Given the description of an element on the screen output the (x, y) to click on. 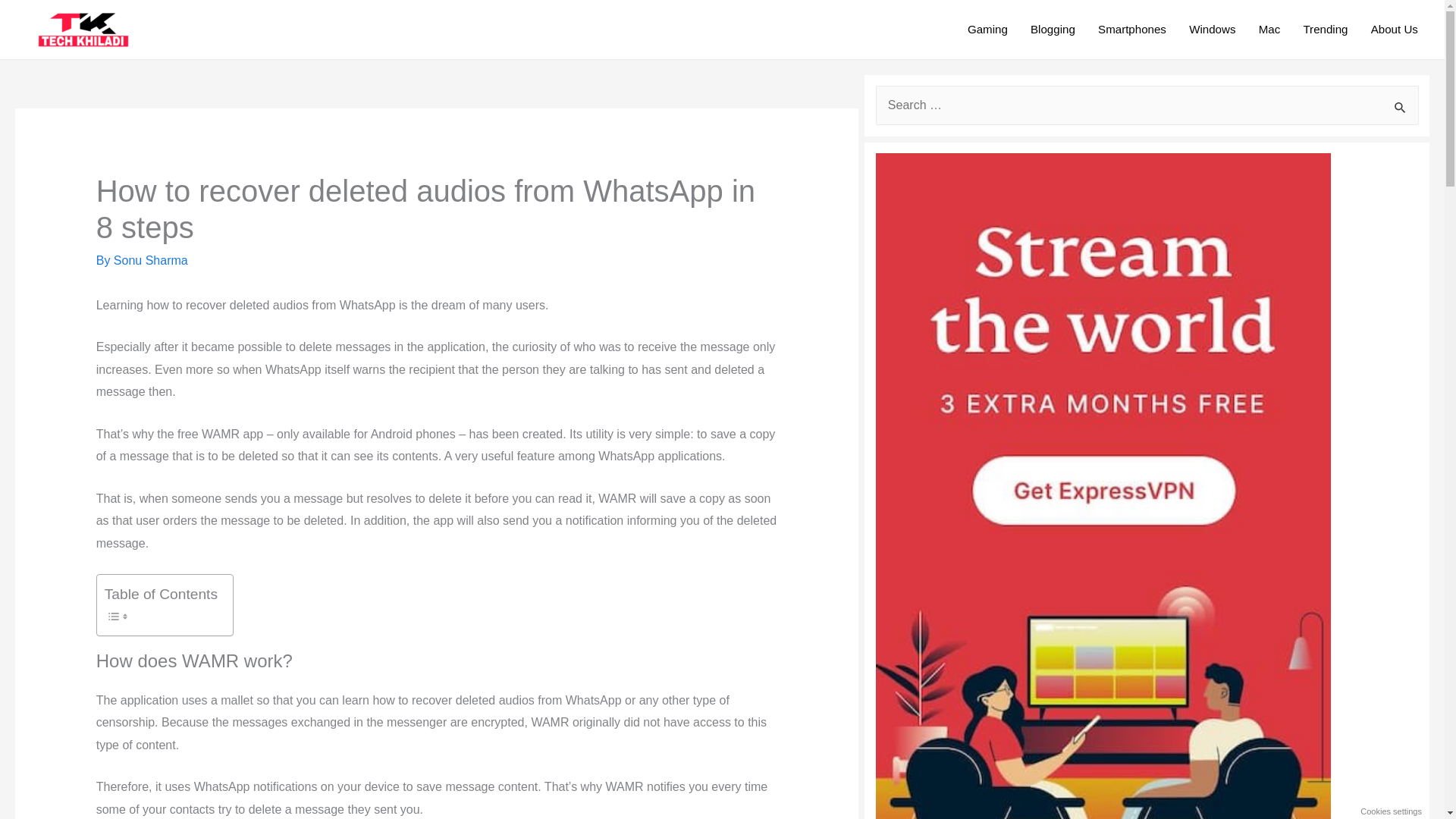
Trending (1324, 29)
Smartphones (1131, 29)
About Us (1394, 29)
Gaming (987, 29)
View all posts by Sonu Sharma (150, 259)
Sonu Sharma (150, 259)
Windows (1212, 29)
Blogging (1052, 29)
